Given the description of an element on the screen output the (x, y) to click on. 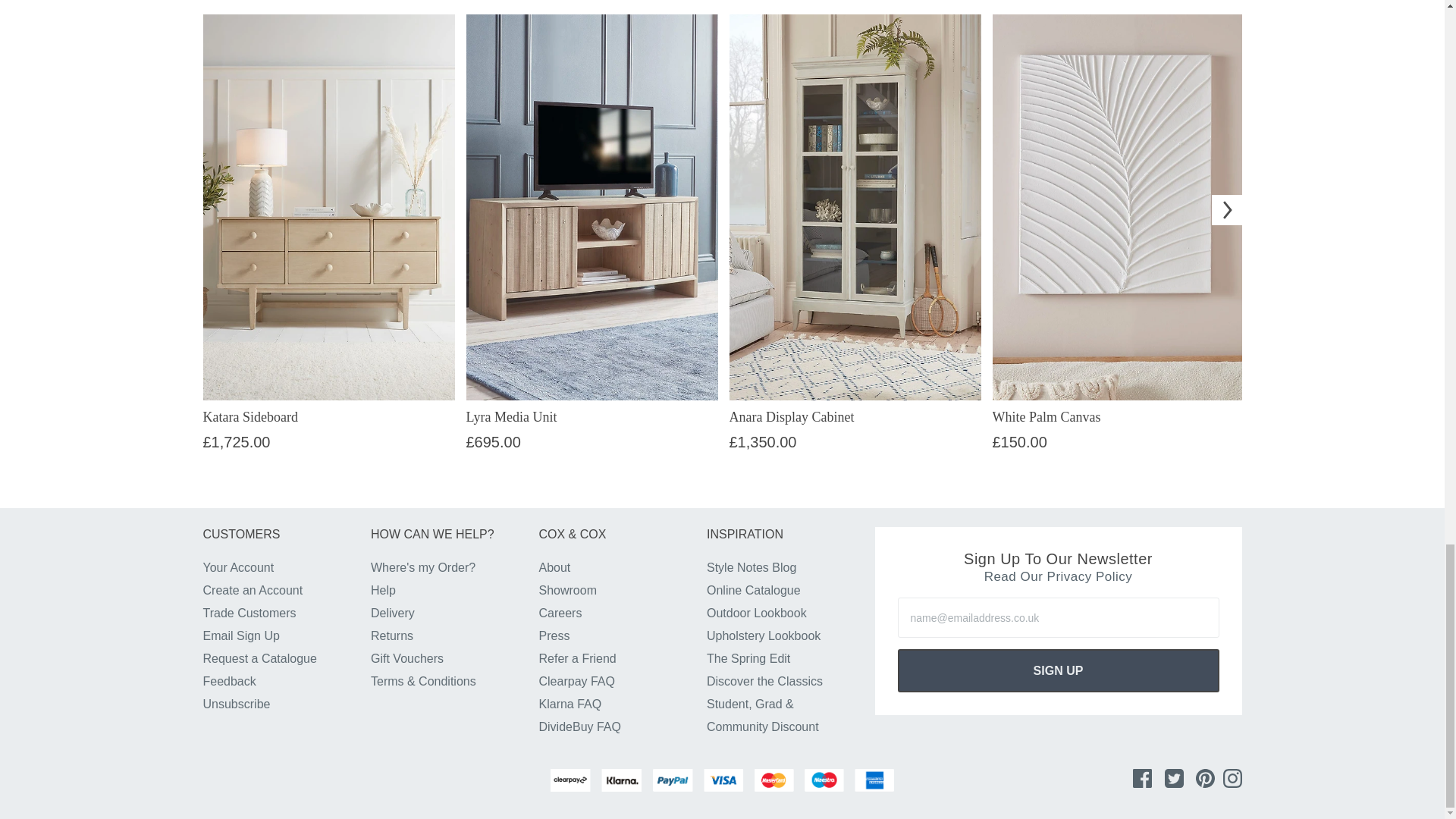
Follow us on Pinterest (1204, 778)
Follow us on Twitter (1173, 778)
Follow us on Instagram (1232, 778)
Subscribe (1059, 670)
Like us on Facebook (1141, 778)
